Given the description of an element on the screen output the (x, y) to click on. 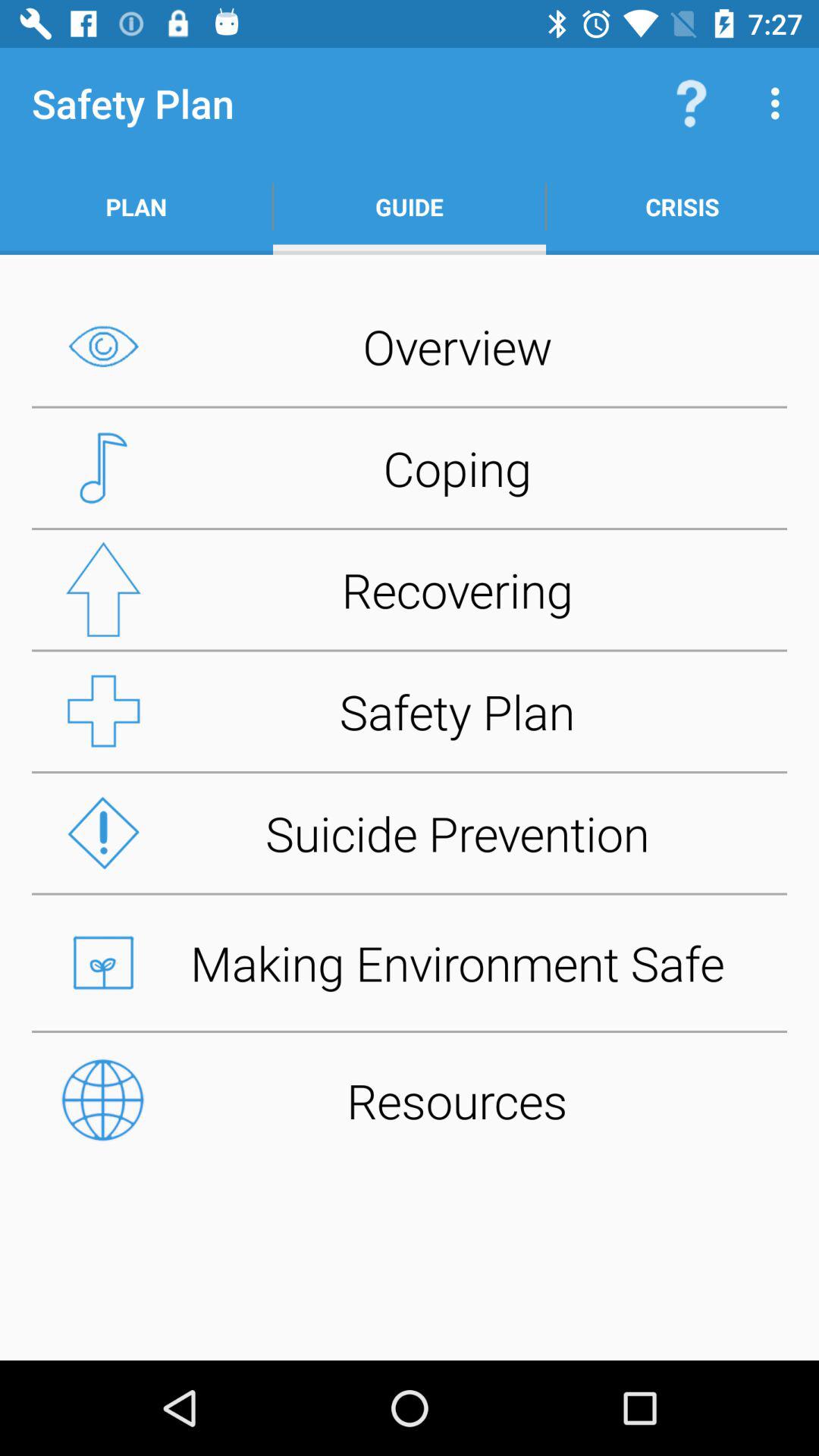
press the overview icon (409, 346)
